Given the description of an element on the screen output the (x, y) to click on. 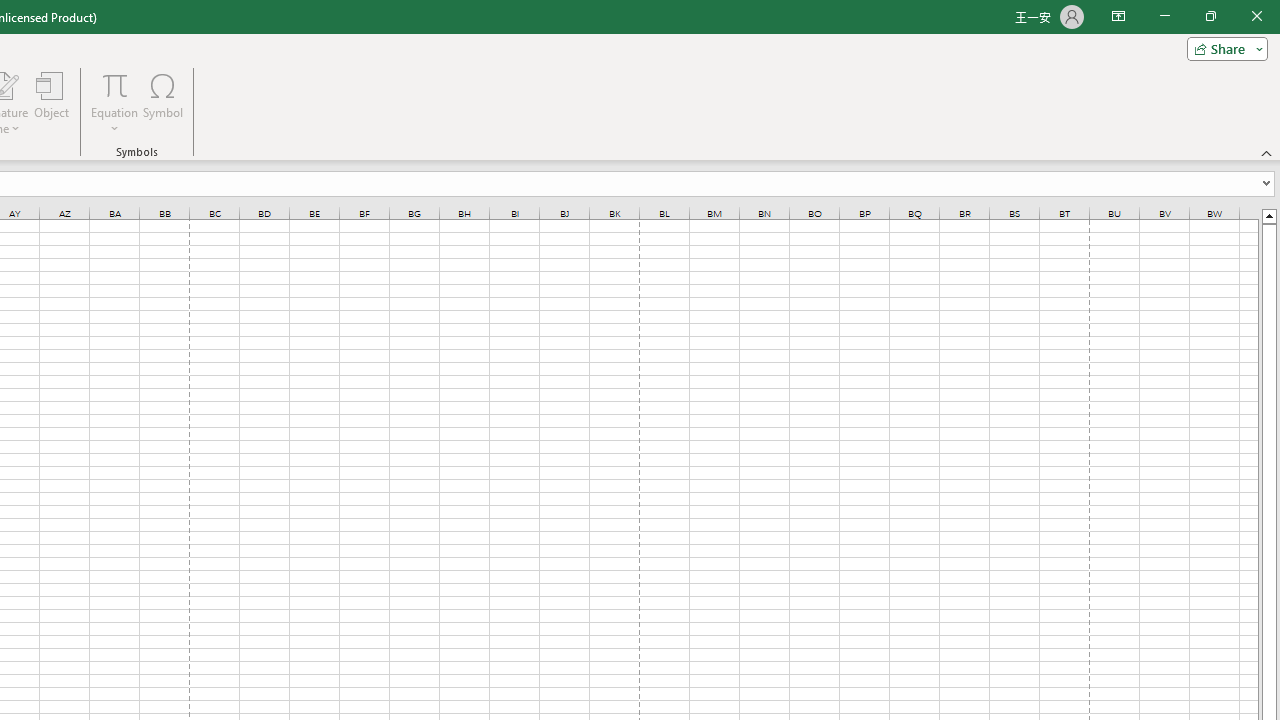
Symbol... (162, 102)
Equation (114, 84)
Restore Down (1210, 16)
Object... (51, 102)
Equation (114, 102)
